Given the description of an element on the screen output the (x, y) to click on. 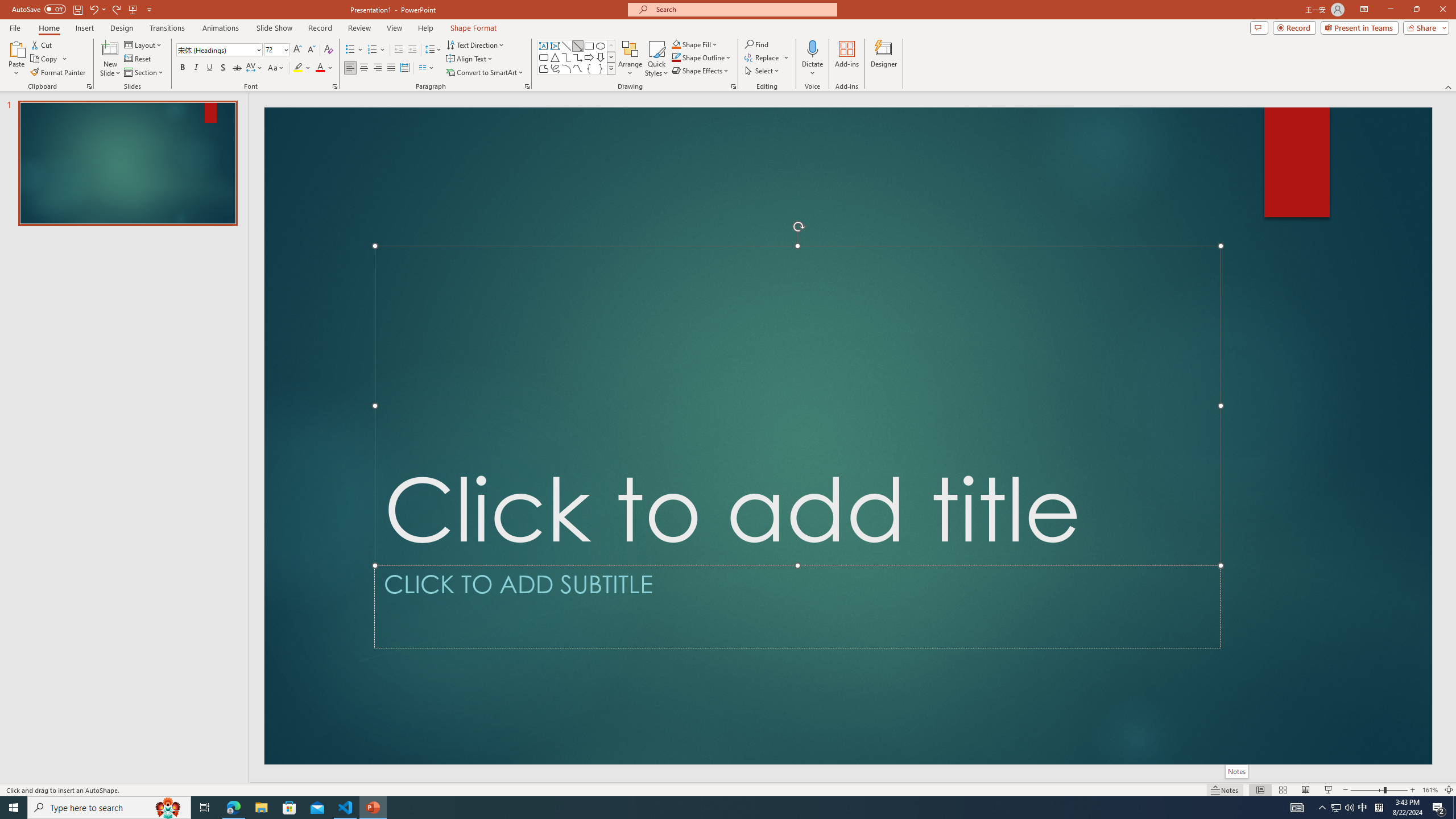
Subtitle TextBox (797, 606)
